Given the description of an element on the screen output the (x, y) to click on. 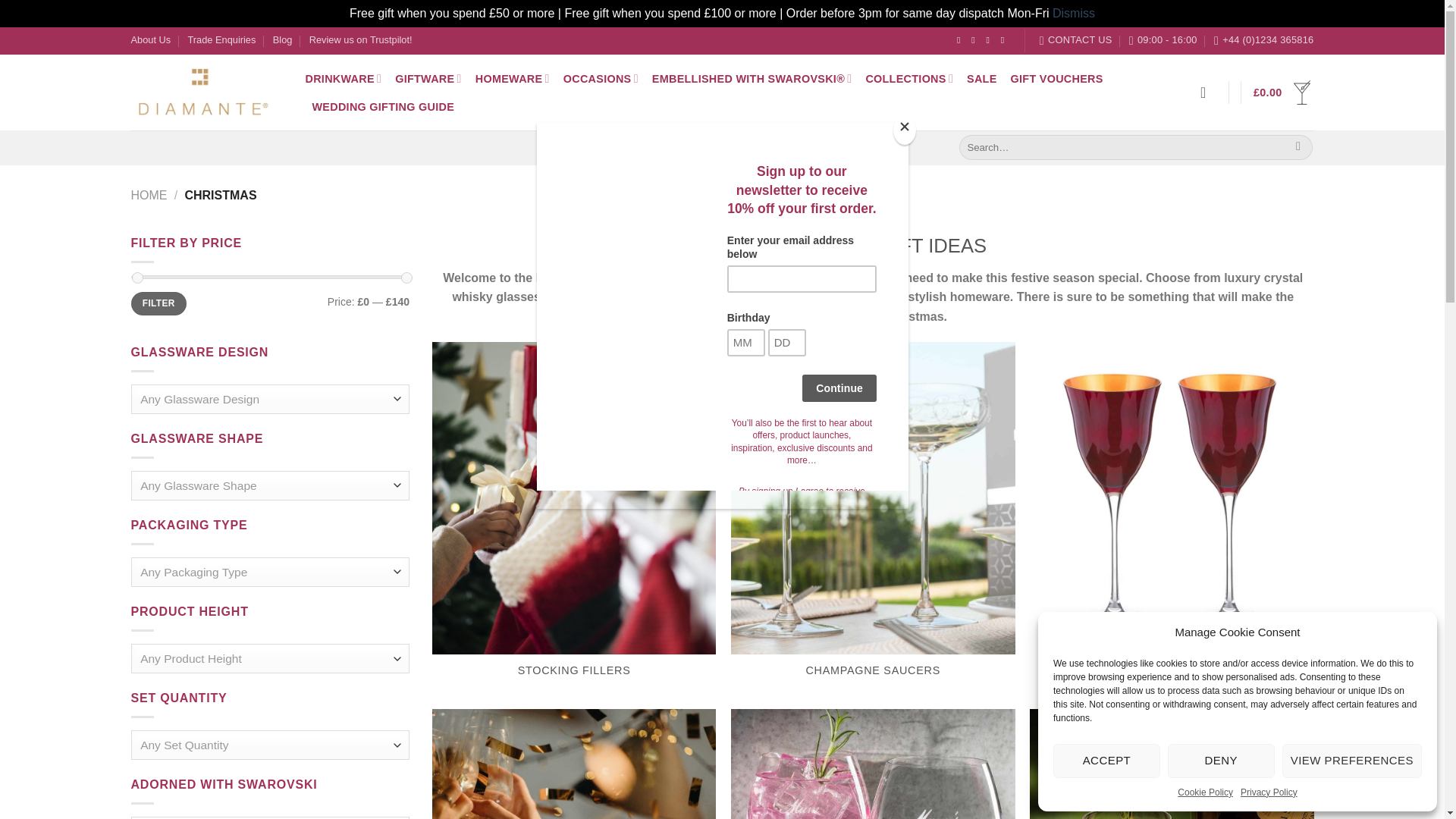
Review us on Trustpilot! (360, 39)
CONTACT US (1075, 39)
Dismiss (1073, 12)
Trade Enquiries (221, 39)
ACCEPT (1106, 760)
About Us (150, 39)
DENY (1221, 760)
Privacy Policy (1268, 792)
09:00 - 16:00 (1162, 39)
VIEW PREFERENCES (1352, 760)
Cookie Policy (1205, 792)
Basket (1283, 92)
DRINKWARE (342, 78)
